Given the description of an element on the screen output the (x, y) to click on. 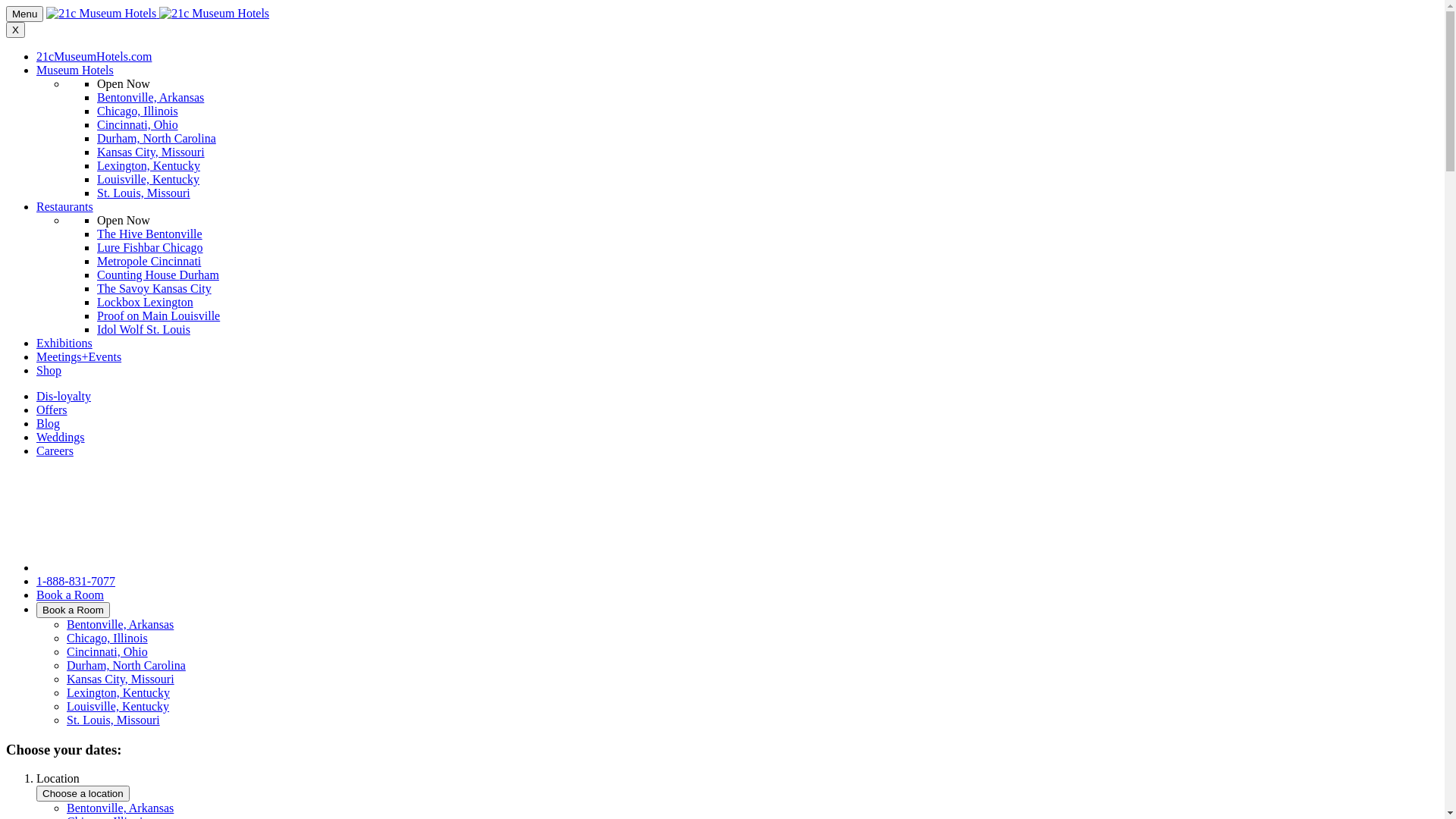
Bentonville, Arkansas Element type: text (150, 97)
Idol Wolf St. Louis Element type: text (143, 329)
1-888-831-7077 Element type: text (75, 580)
Lexington, Kentucky Element type: text (117, 692)
The Hive Bentonville Element type: text (149, 233)
Chicago, Illinois Element type: text (106, 637)
Weddings Element type: text (60, 436)
Blog Element type: text (47, 423)
Book a Room Element type: text (69, 594)
Restaurants Element type: text (64, 206)
Durham, North Carolina Element type: text (125, 664)
Menu Element type: text (24, 13)
Shop Element type: text (48, 370)
Cincinnati, Ohio Element type: text (137, 124)
St. Louis, Missouri Element type: text (113, 719)
Offers Element type: text (51, 409)
Durham, North Carolina Element type: text (156, 137)
Bentonville, Arkansas Element type: text (119, 807)
Metropole Cincinnati Element type: text (148, 260)
Kansas City, Missouri Element type: text (150, 151)
Dis-loyalty Element type: text (63, 395)
Louisville, Kentucky Element type: text (148, 178)
Lockbox Lexington Element type: text (145, 301)
Choose a location Element type: text (82, 793)
St. Louis, Missouri Element type: text (143, 192)
Kansas City, Missouri Element type: text (120, 678)
Careers Element type: text (54, 450)
X Element type: text (15, 29)
Proof on Main Louisville Element type: text (158, 315)
Meetings+Events Element type: text (78, 356)
Bentonville, Arkansas Element type: text (119, 624)
Louisville, Kentucky Element type: text (117, 705)
Cincinnati, Ohio Element type: text (106, 651)
Lure Fishbar Chicago Element type: text (150, 247)
21cMuseumHotels.com Element type: text (93, 56)
The Savoy Kansas City Element type: text (154, 288)
Exhibitions Element type: text (64, 342)
Chicago, Illinois Element type: text (137, 110)
Counting House Durham Element type: text (158, 274)
Museum Hotels Element type: text (74, 69)
Book a Room Element type: text (72, 610)
Lexington, Kentucky Element type: text (148, 165)
